Given the description of an element on the screen output the (x, y) to click on. 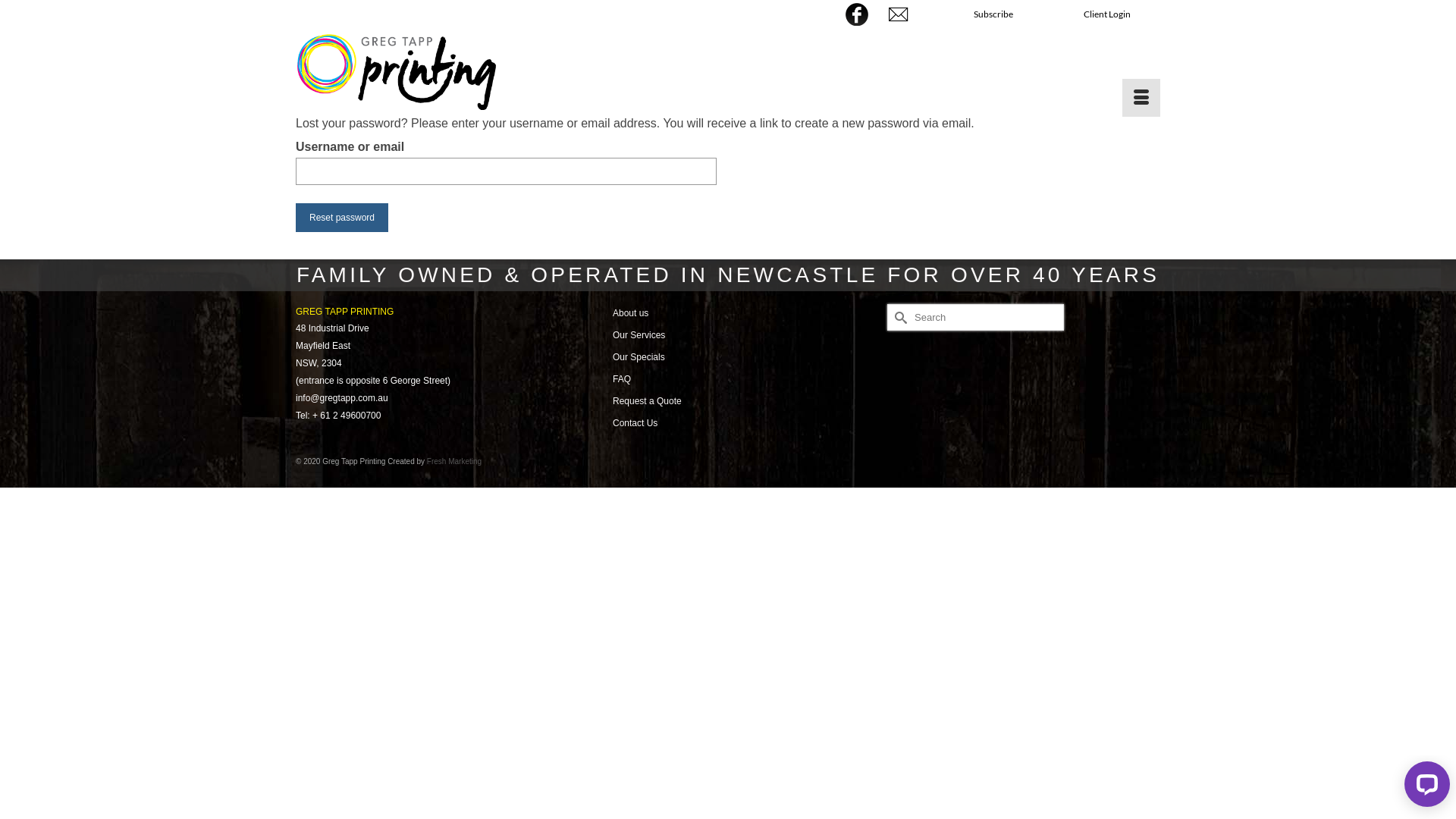
Subscribe Element type: text (993, 14)
About us Element type: text (630, 313)
Client Login Element type: text (1107, 14)
Fresh Marketing Element type: text (453, 461)
Our Services Element type: text (638, 335)
FAQ Element type: text (621, 379)
Reset password Element type: text (341, 217)
Request a Quote Element type: text (646, 401)
Our Specials Element type: text (638, 357)
Contact Us Element type: text (634, 423)
Greg Tapp Printing | Online Digital Printing Services Element type: hover (431, 70)
Tel: + 61 2 49600700 Element type: text (337, 415)
